Given the description of an element on the screen output the (x, y) to click on. 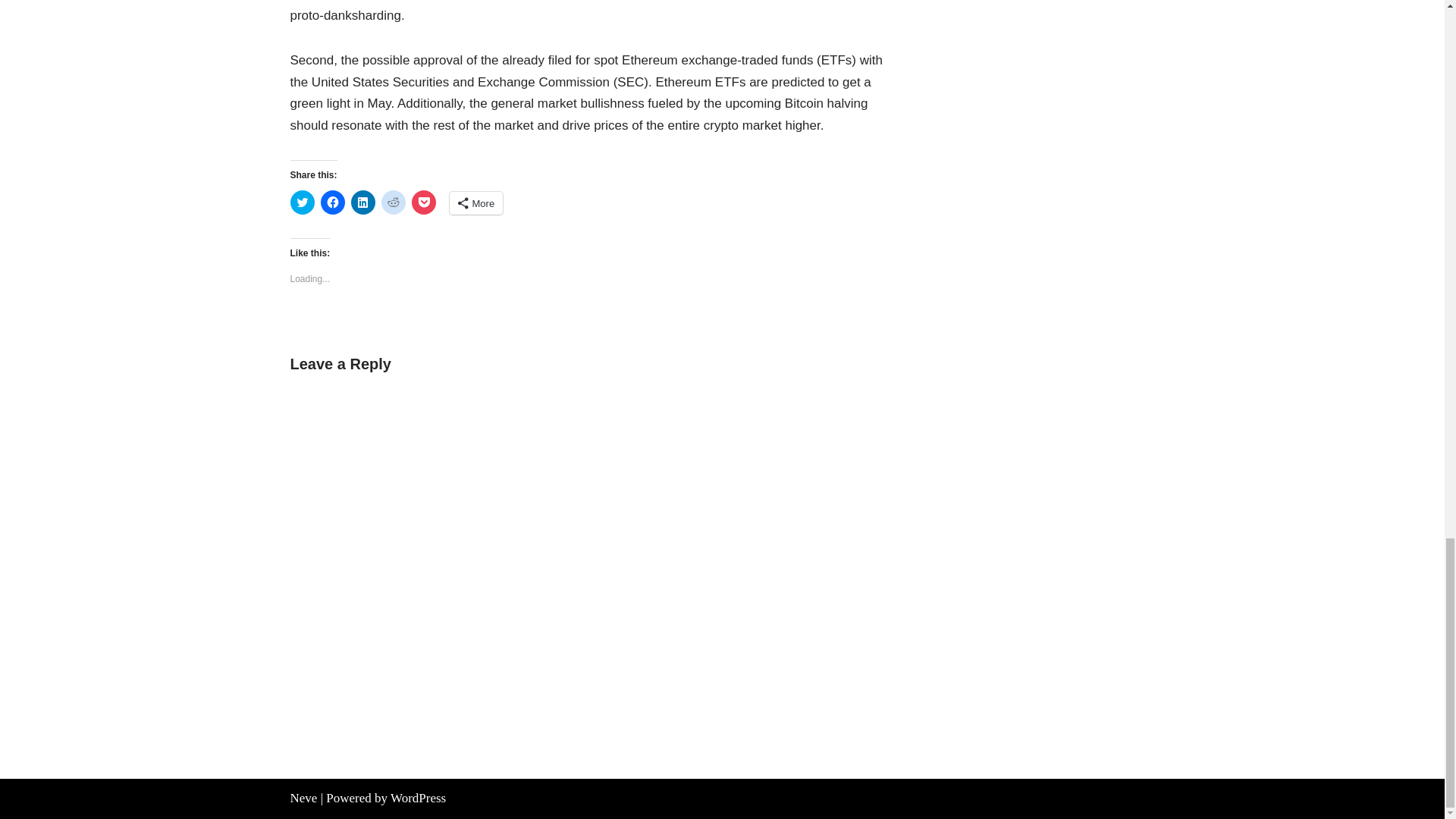
WordPress (417, 798)
Click to share on Reddit (392, 202)
Click to share on LinkedIn (362, 202)
More (475, 202)
Click to share on Twitter (301, 202)
Click to share on Facebook (331, 202)
Neve (303, 798)
Click to share on Pocket (422, 202)
